Given the description of an element on the screen output the (x, y) to click on. 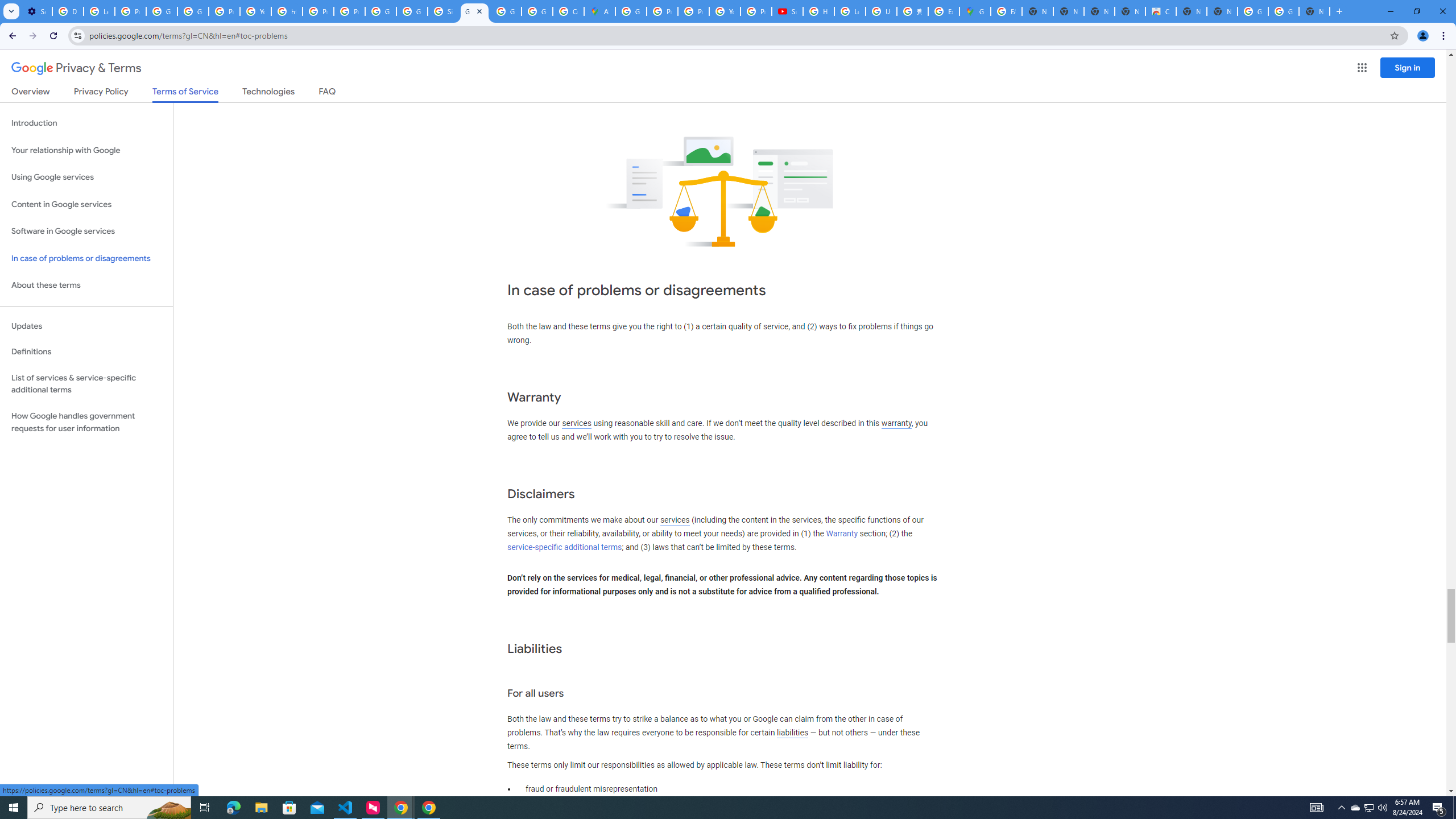
Chrome Web Store (1160, 11)
Privacy Policy (100, 93)
Restore (1416, 11)
warranty (895, 423)
New Tab (1338, 11)
Warranty (841, 533)
Privacy Help Center - Policies Help (662, 11)
Back (10, 35)
